Given the description of an element on the screen output the (x, y) to click on. 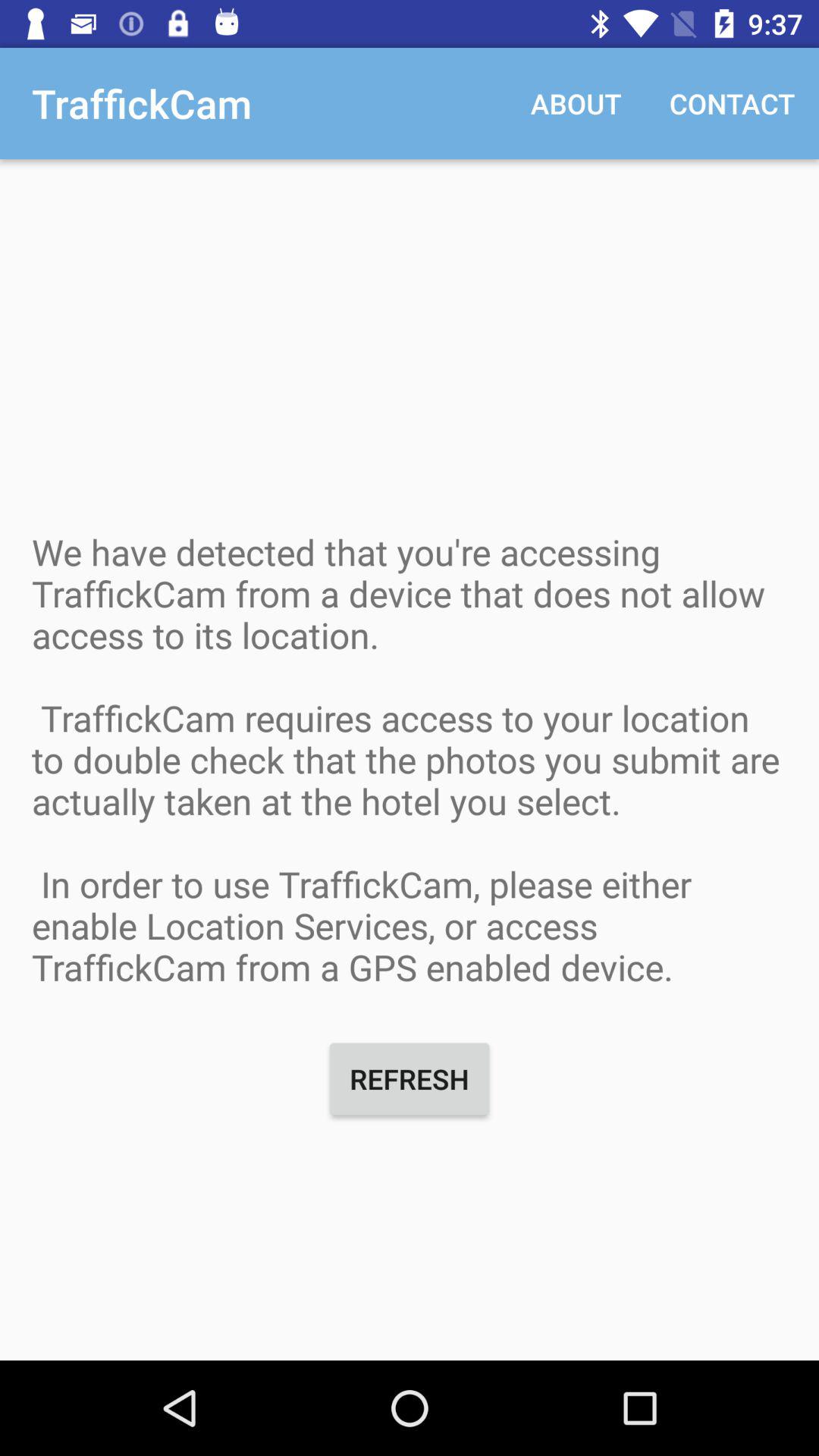
turn on the contact item (732, 103)
